Given the description of an element on the screen output the (x, y) to click on. 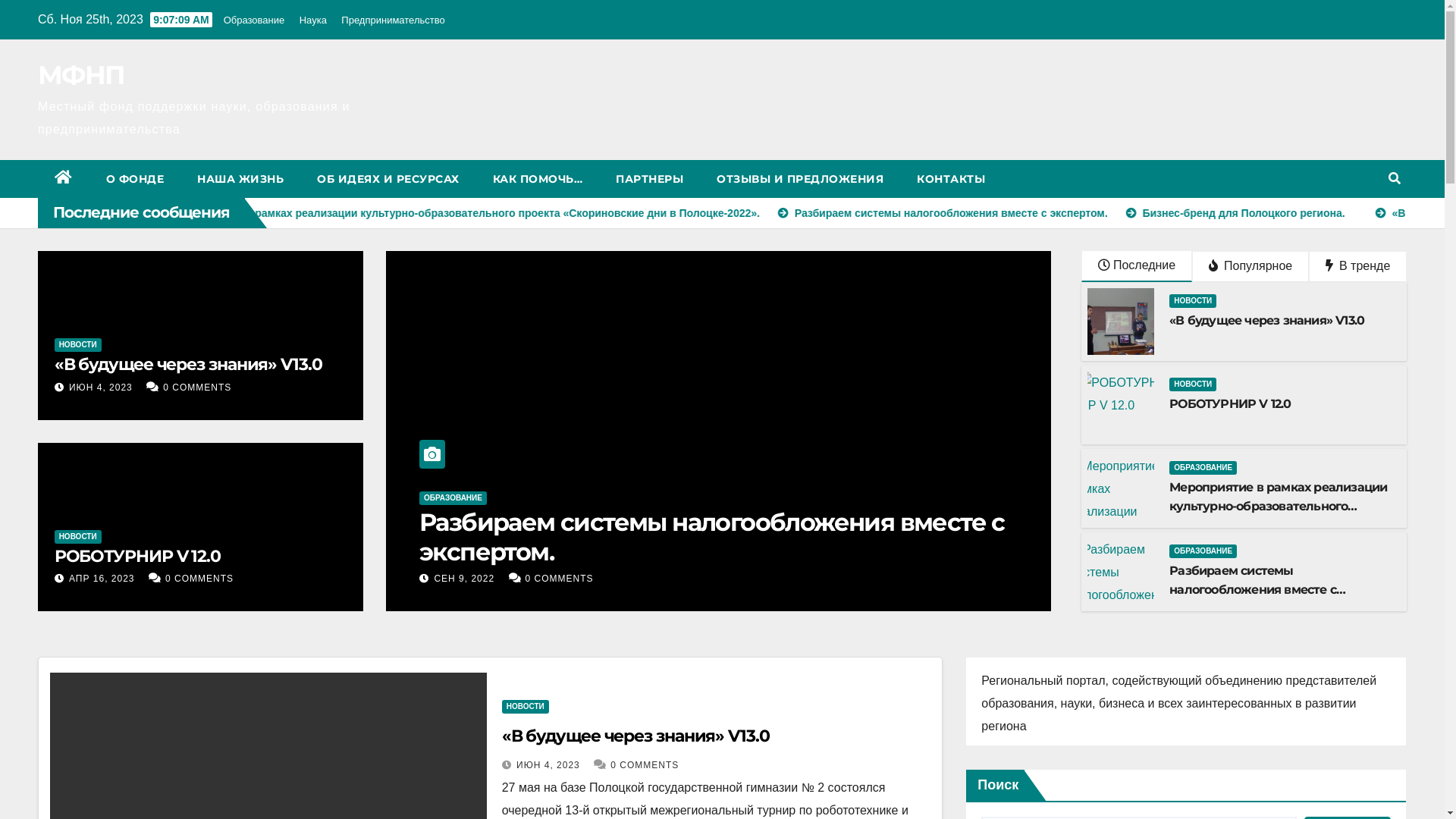
0 COMMENTS Element type: text (644, 764)
0 COMMENTS Element type: text (199, 578)
0 COMMENTS Element type: text (564, 578)
0 COMMENTS Element type: text (197, 387)
